Given the description of an element on the screen output the (x, y) to click on. 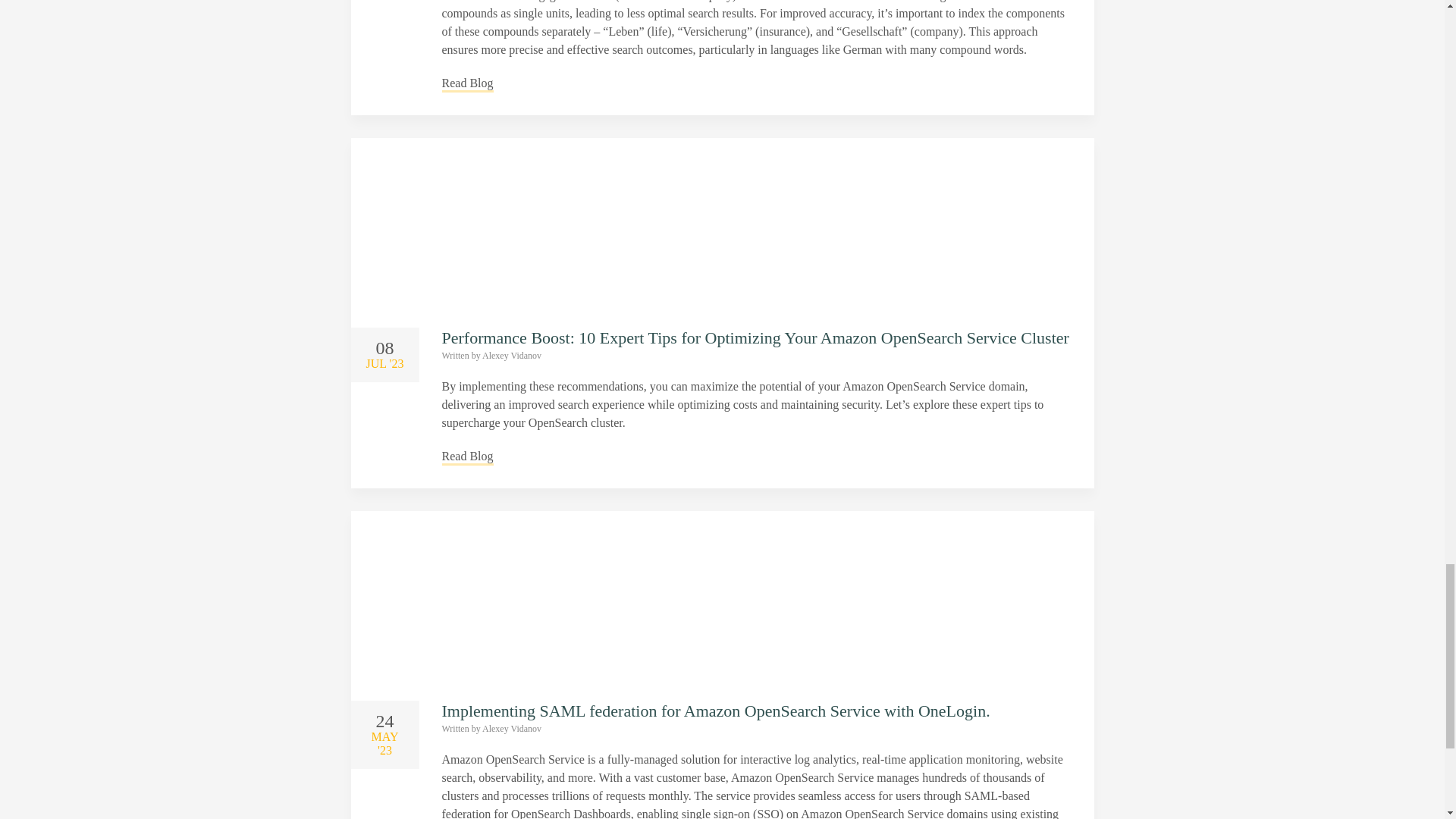
Read Blog (467, 83)
Alexey Vidanov (511, 355)
